Given the description of an element on the screen output the (x, y) to click on. 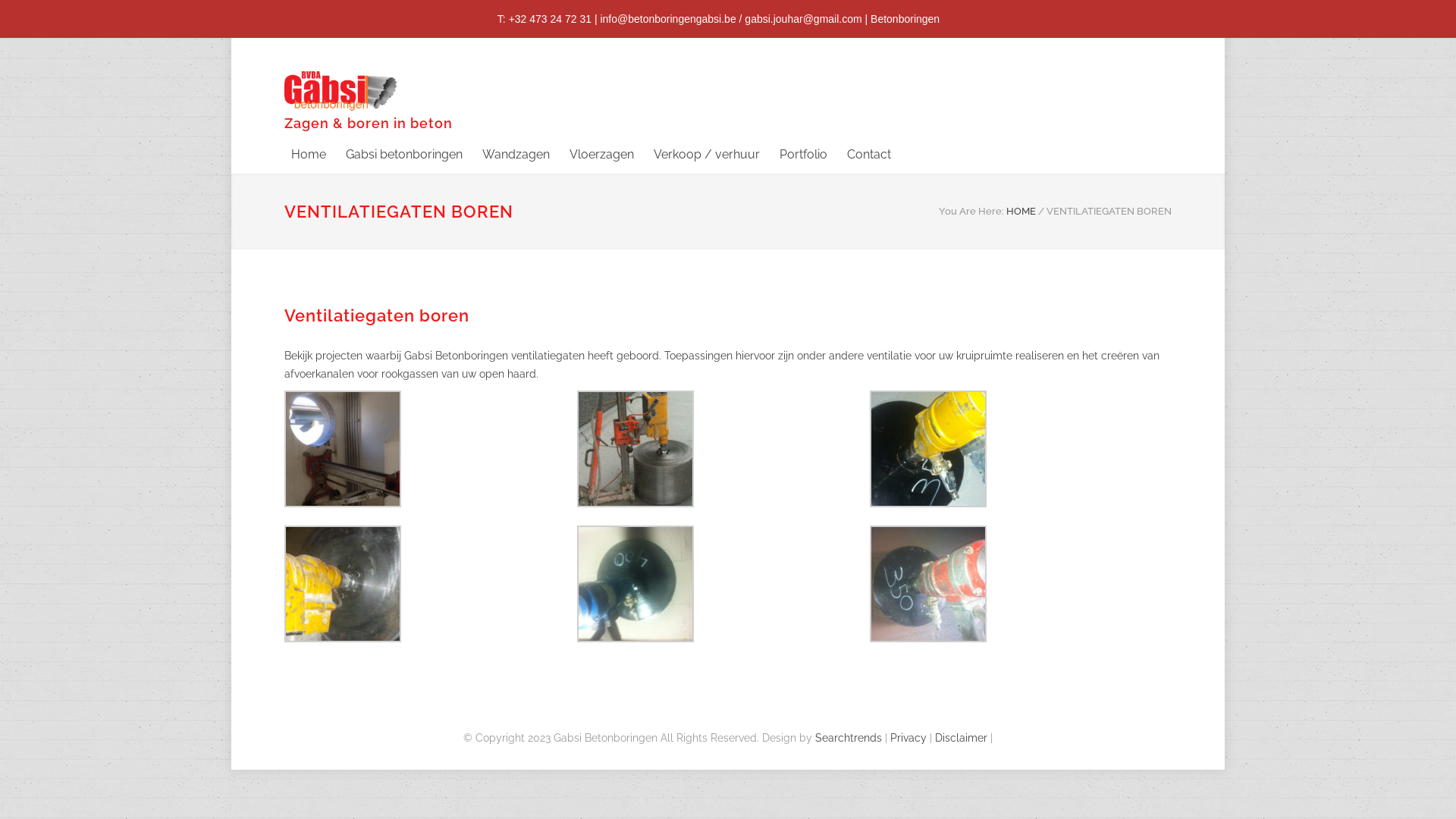
Wandzagen Element type: text (505, 154)
+32 473 24 72 31 Element type: text (549, 18)
Searchtrends Element type: text (848, 737)
Betonboringen ventilatiegaten Element type: hover (430, 448)
HOME Element type: text (1020, 210)
info@betonboringengabsi.be Element type: text (667, 18)
Privacy Element type: text (908, 737)
Ventilatiegaten boren Element type: hover (723, 448)
Betonboringen ten behoeve van ventilatie Element type: hover (430, 583)
gabsi.jouhar@gmail.com Element type: text (802, 18)
Portfolio Element type: text (793, 154)
Boren in beton met een zaagblad van 350mm Element type: hover (1015, 583)
Contact Element type: text (859, 154)
Gabsi betonboringen Element type: text (394, 154)
Boren in beton - Verkoop diamantboren Element type: hover (1015, 448)
Vloerzagen Element type: text (591, 154)
Disclaimer Element type: text (961, 737)
Zagen & boren in beton Element type: text (424, 100)
Boren in beton met een zaagblad van 400mm Element type: hover (723, 583)
Verkoop / verhuur Element type: text (696, 154)
Home Element type: text (308, 154)
